Given the description of an element on the screen output the (x, y) to click on. 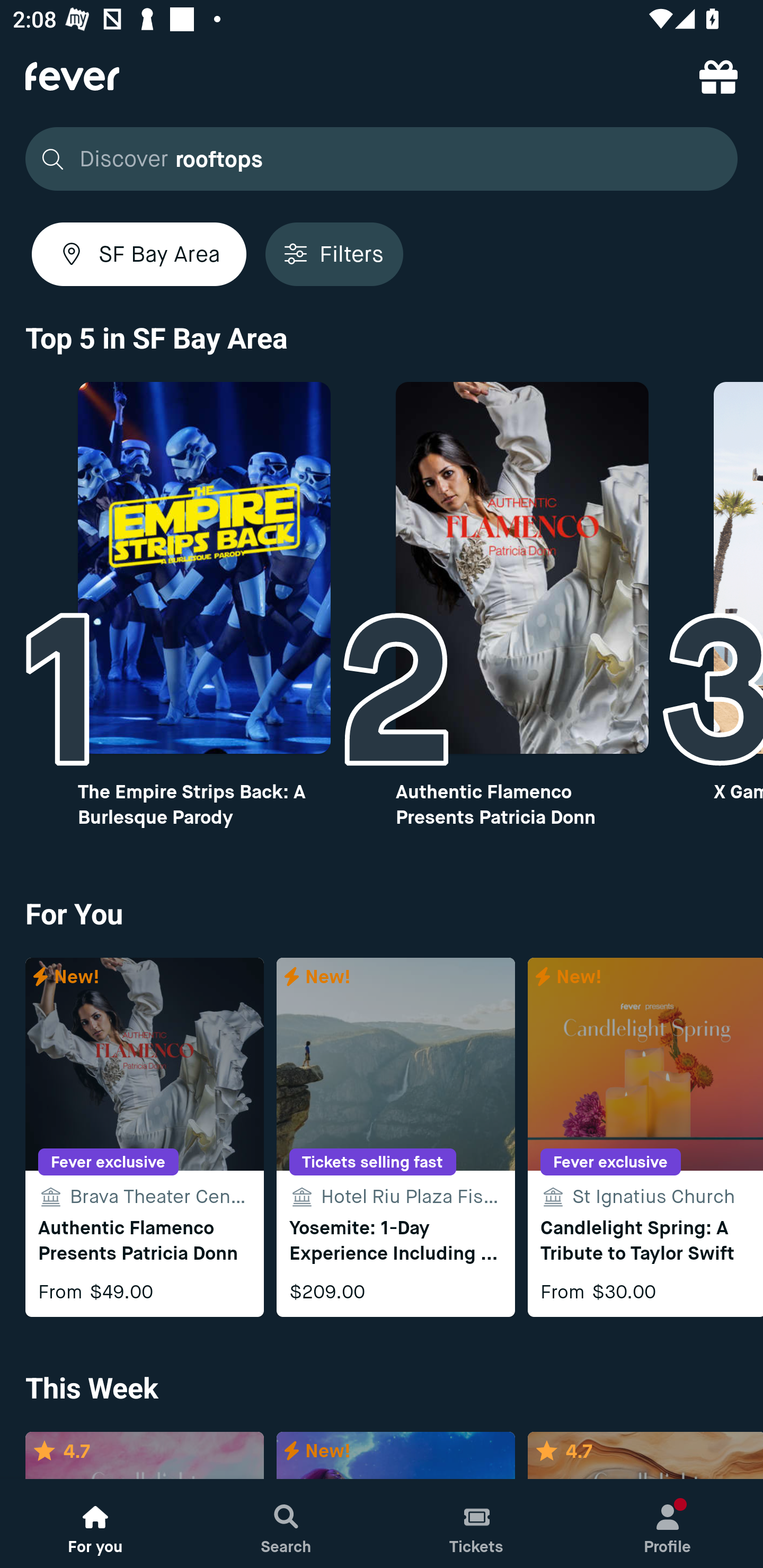
referral (718, 75)
Discover rooftops (381, 158)
Discover rooftops (376, 158)
SF Bay Area (139, 253)
Filters (333, 253)
Top10 image (203, 568)
Top10 image (521, 568)
Search (285, 1523)
Tickets (476, 1523)
Profile, New notification Profile (667, 1523)
